Given the description of an element on the screen output the (x, y) to click on. 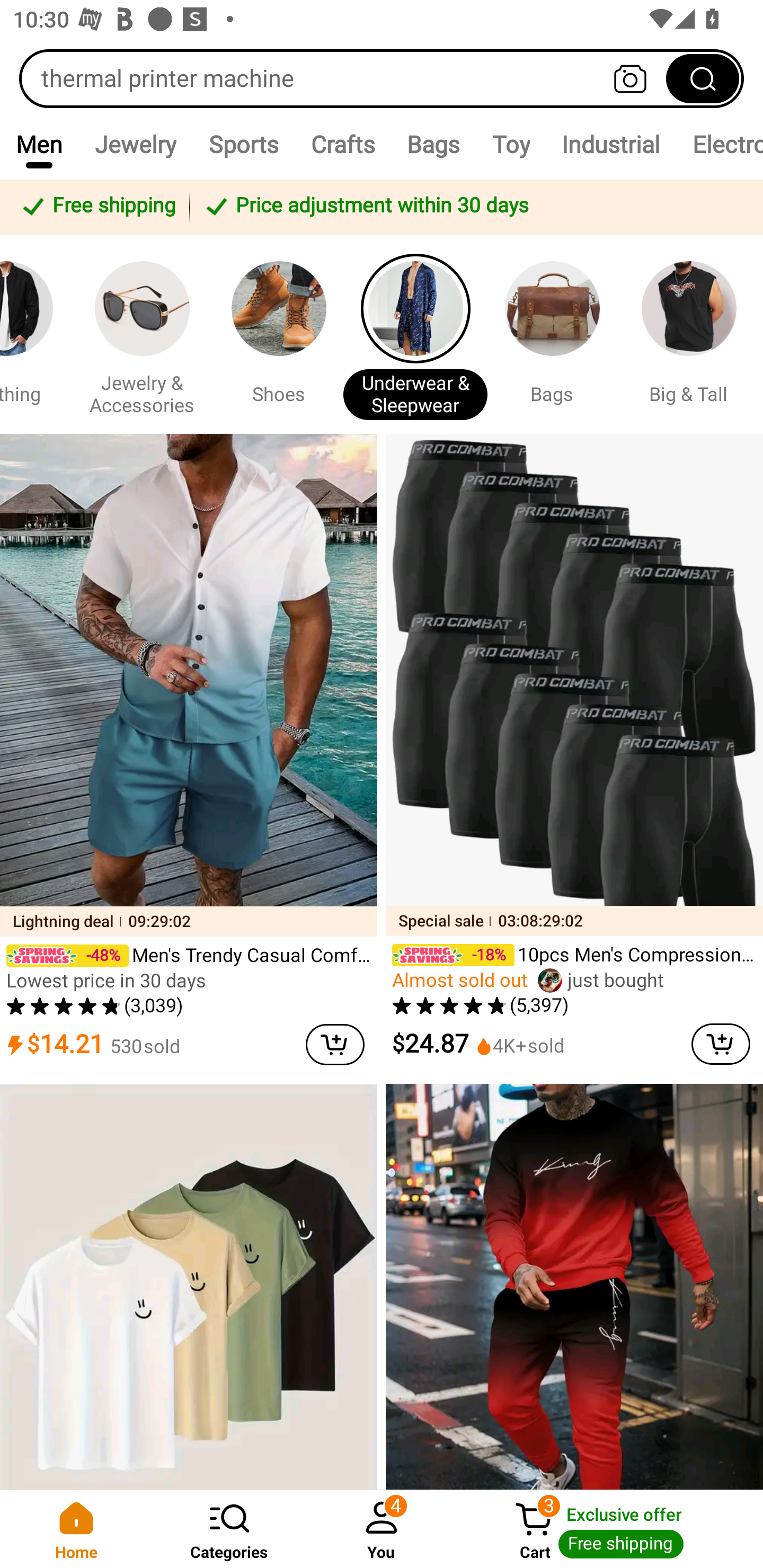
thermal printer machine (381, 78)
Men (39, 144)
Jewelry (135, 144)
Sports (243, 144)
Crafts (342, 144)
Bags (433, 144)
Toy (510, 144)
Industrial (610, 144)
Free shipping (97, 206)
Price adjustment within 30 days (472, 206)
Clothing (32, 333)
Jewelry & Accessories (141, 333)
Shoes (278, 333)
Underwear & Sleepwear (415, 333)
Bags (551, 333)
Big & Tall (688, 333)
cart delete (720, 1043)
cart delete (334, 1043)
Home (76, 1528)
Categories (228, 1528)
You 4 You (381, 1528)
Cart 3 Cart Exclusive offer (610, 1528)
